Given the description of an element on the screen output the (x, y) to click on. 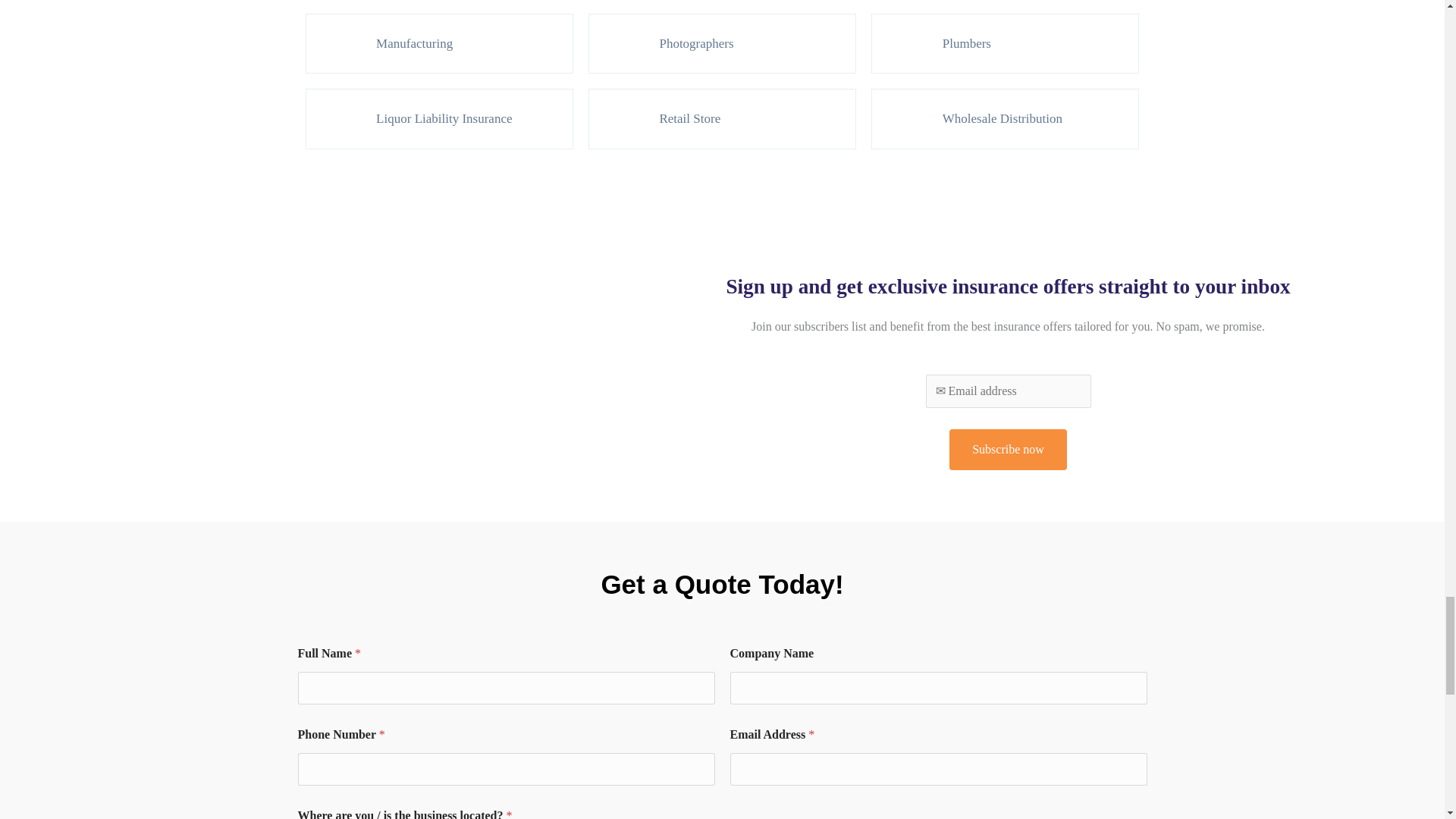
Business Insurance 11 (335, 43)
Business Insurance 12 (618, 43)
Business Insurance 14 (335, 118)
Subscribe now (1008, 449)
Business Insurance 9 (901, 43)
Business Insurance 15 (618, 118)
Business Insurance 16 (901, 118)
